Given the description of an element on the screen output the (x, y) to click on. 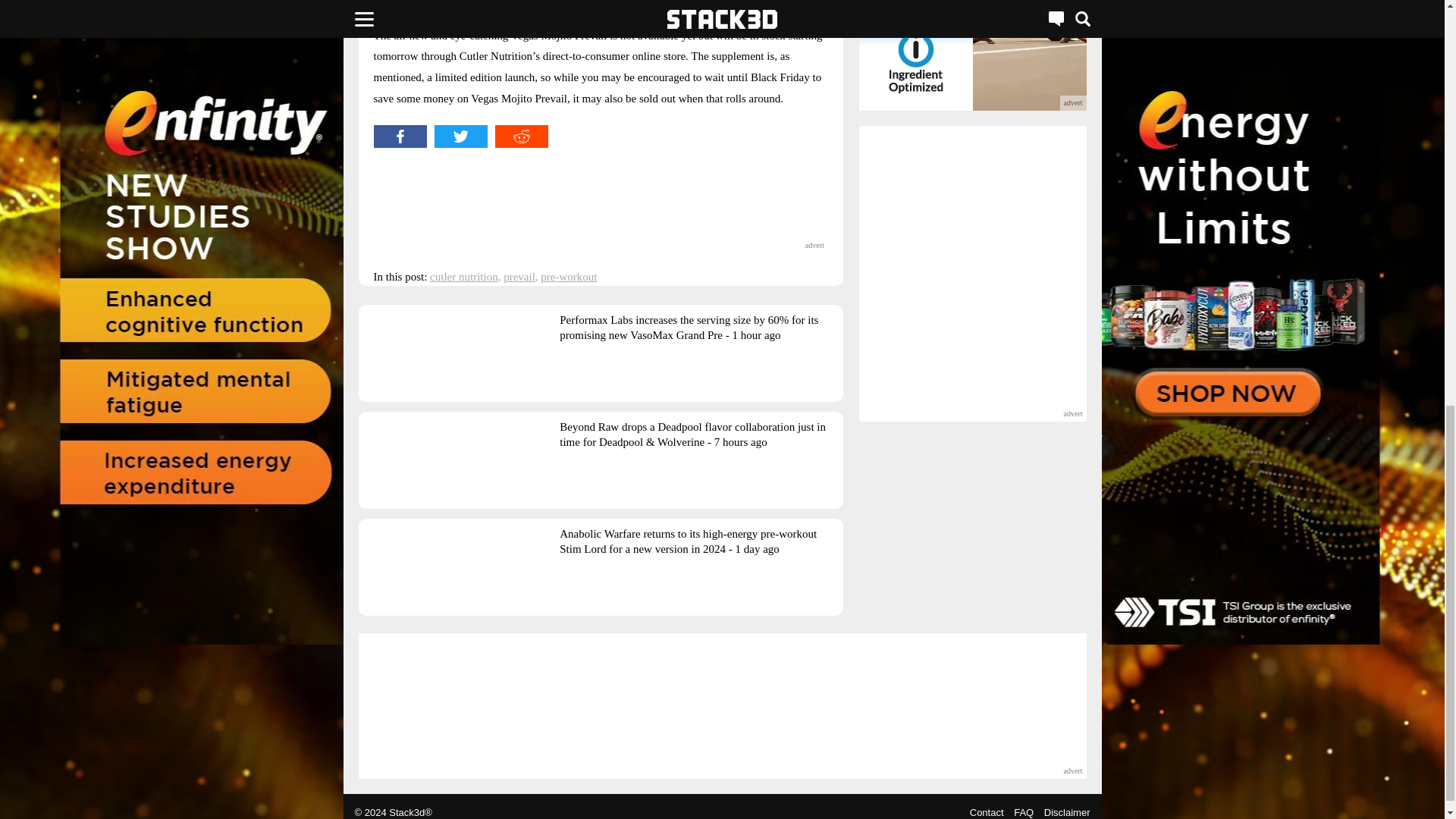
prevail (519, 276)
cutler nutrition (463, 276)
